Given the description of an element on the screen output the (x, y) to click on. 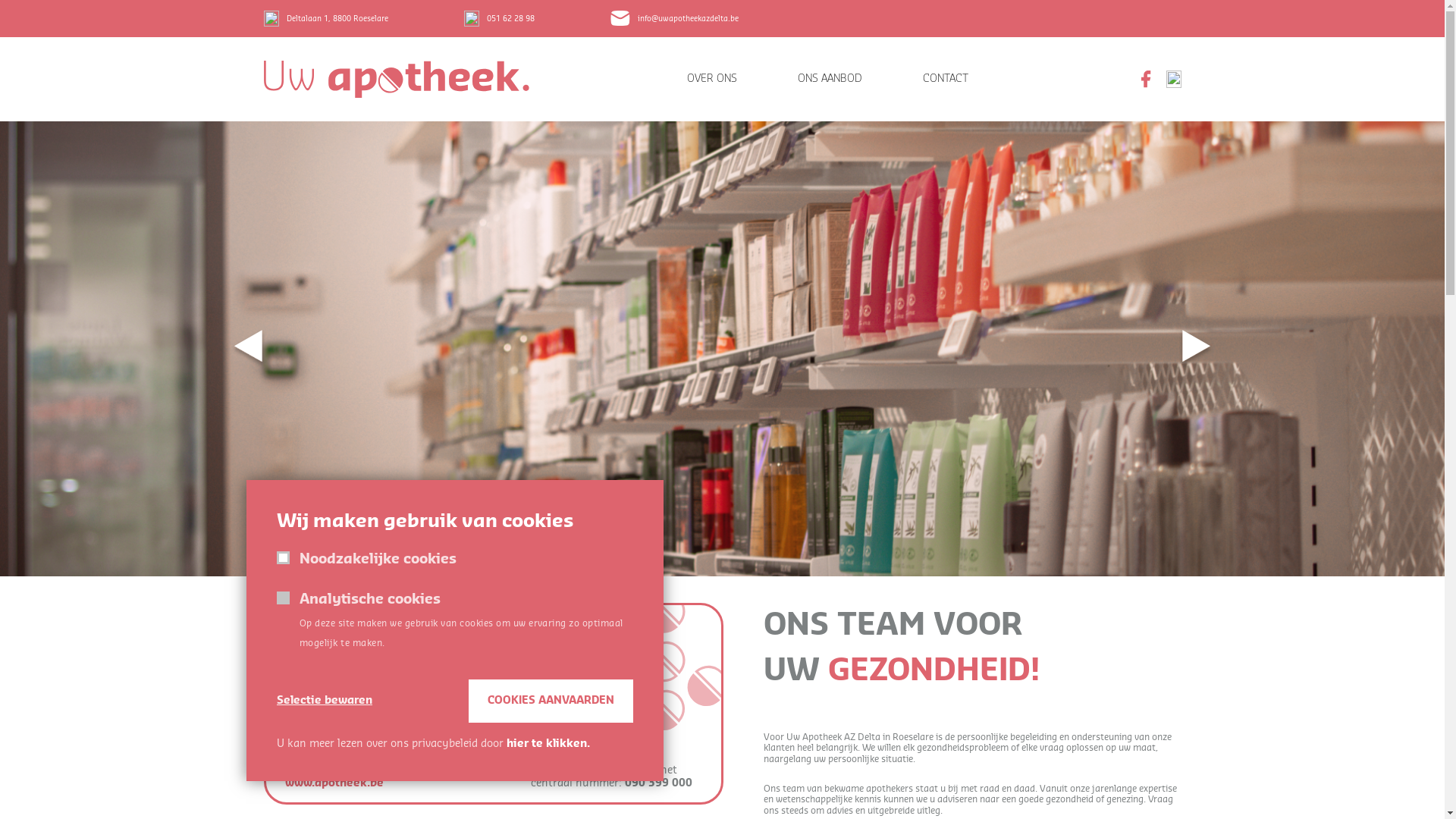
CONTACT Element type: text (944, 78)
Deltalaan 1, 8800 Roeselare Element type: text (325, 18)
info@uwapotheekazdelta.be Element type: text (673, 18)
OVER ONS Element type: text (711, 78)
hier te klikken. Element type: text (547, 743)
051 62 28 98 Element type: text (499, 18)
090 399 000 Element type: text (658, 783)
www.apotheek.be Element type: text (334, 783)
ONS AANBOD Element type: text (829, 78)
